Given the description of an element on the screen output the (x, y) to click on. 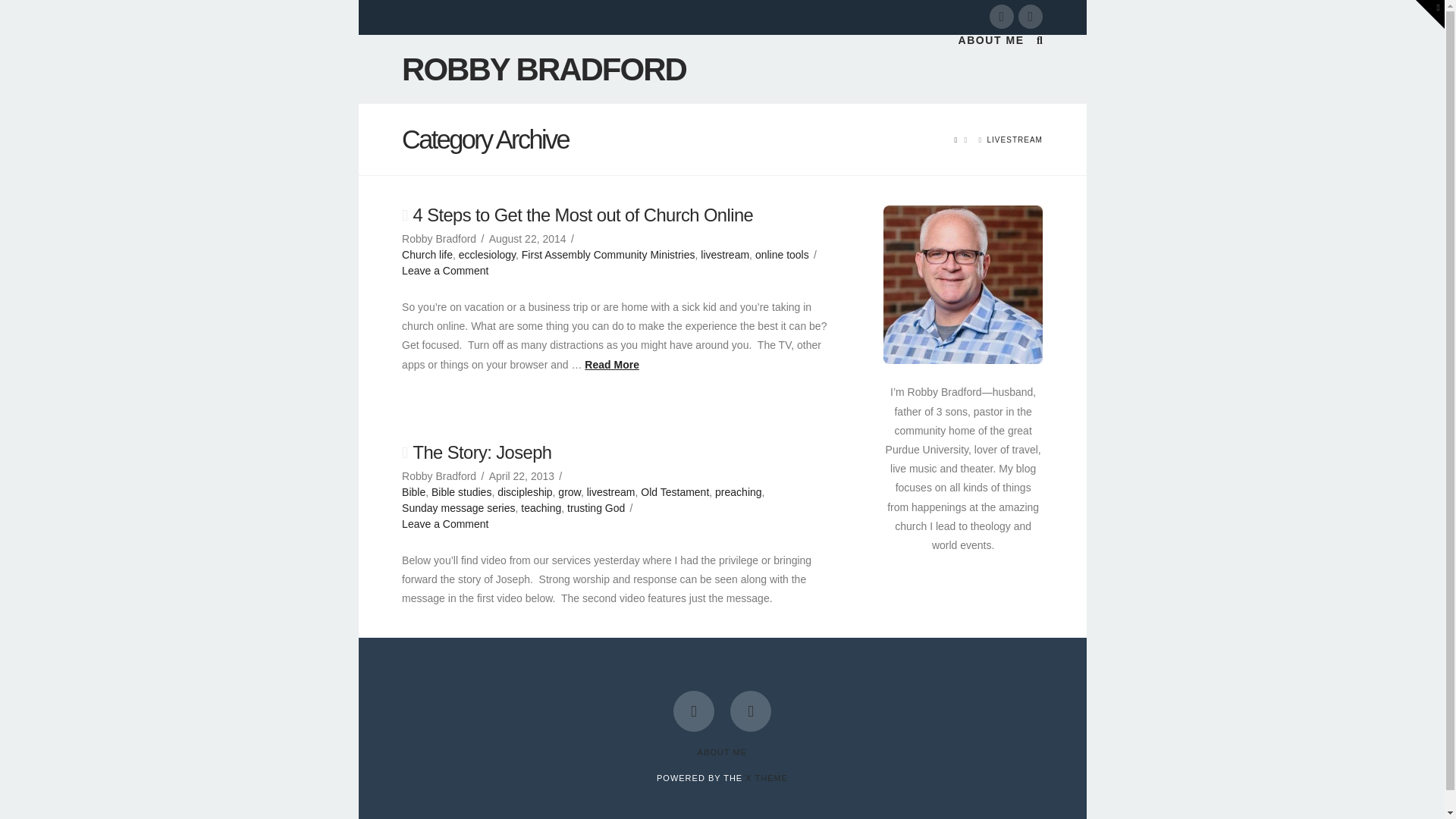
Leave a Comment (444, 523)
livestream (724, 254)
4 Steps to Get the Most out of Church Online (582, 214)
Sunday message series (458, 508)
Facebook (1001, 16)
online tools (782, 254)
LIVESTREAM (1014, 139)
ecclesiology (486, 254)
trusting God (595, 508)
Leave a Comment (444, 270)
